Given the description of an element on the screen output the (x, y) to click on. 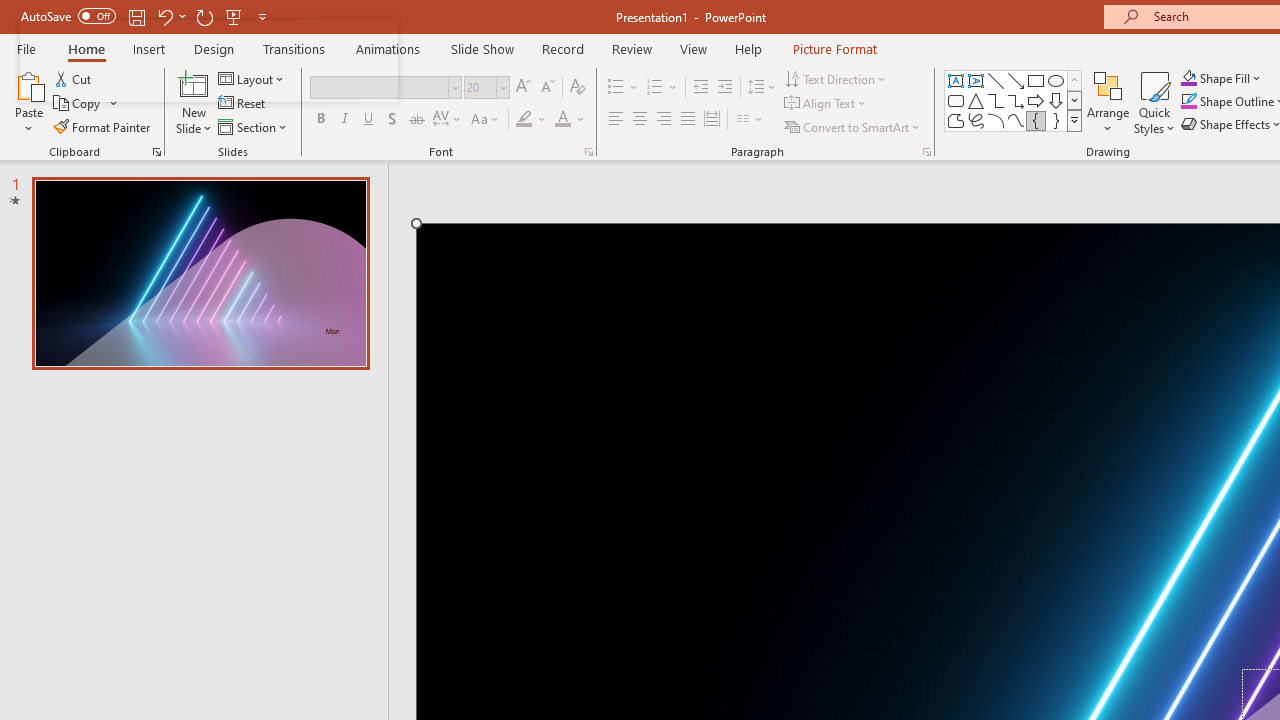
Font (379, 87)
Shape Fill (1221, 78)
Open (502, 87)
Clear Formatting (577, 87)
Underline (369, 119)
Curve (1016, 120)
Design (214, 48)
Line Spacing (762, 87)
Line Arrow (1016, 80)
Format Painter (103, 126)
Increase Indent (725, 87)
Numbering (661, 87)
Freeform: Scribble (975, 120)
Italic (344, 119)
Text Box (955, 80)
